Given the description of an element on the screen output the (x, y) to click on. 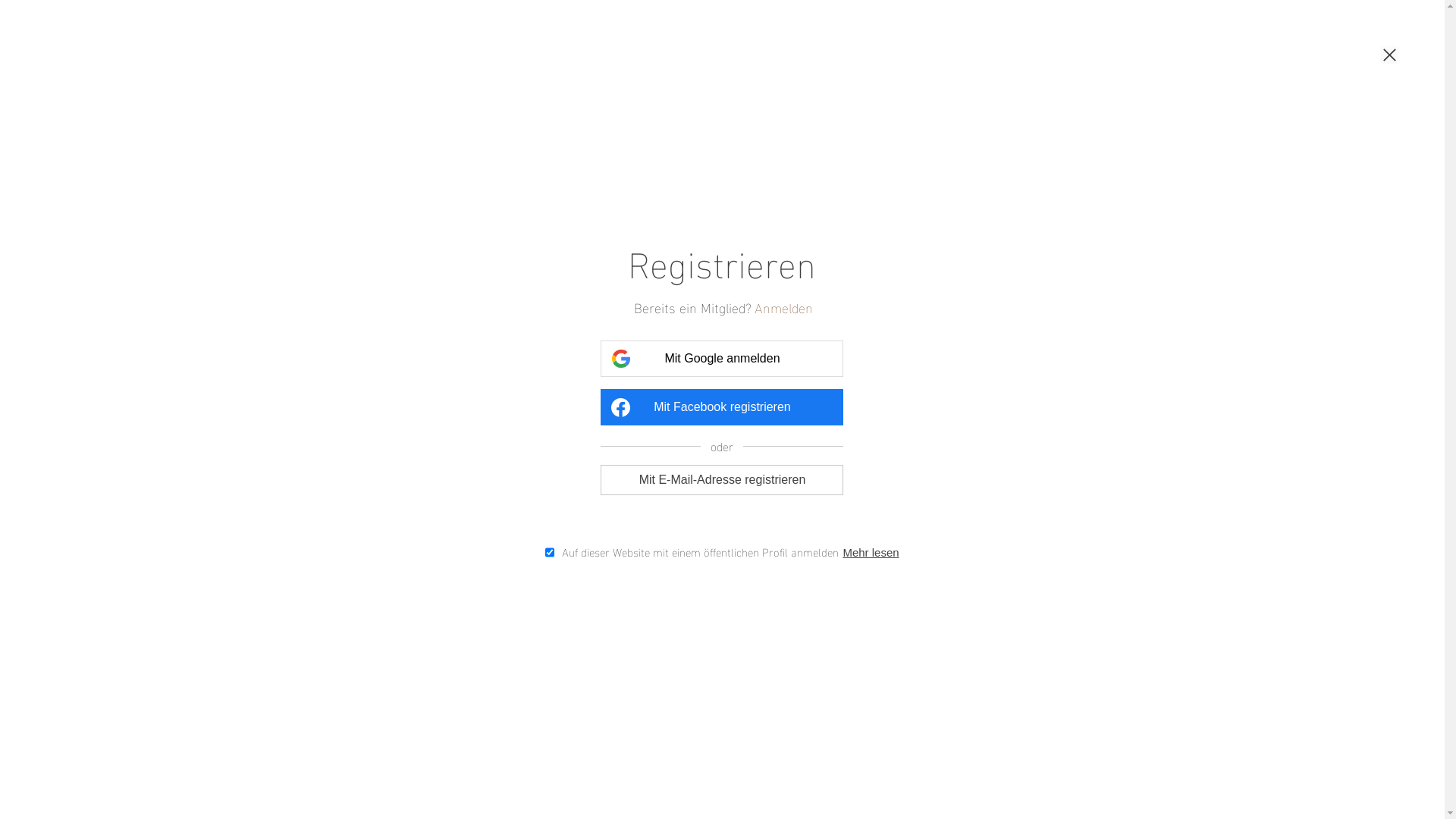
Mit Google anmelden Element type: text (721, 358)
Mit E-Mail-Adresse registrieren Element type: text (721, 479)
Mehr lesen Element type: text (878, 551)
Mit Facebook registrieren Element type: text (721, 407)
Anmelden Element type: text (786, 306)
